Given the description of an element on the screen output the (x, y) to click on. 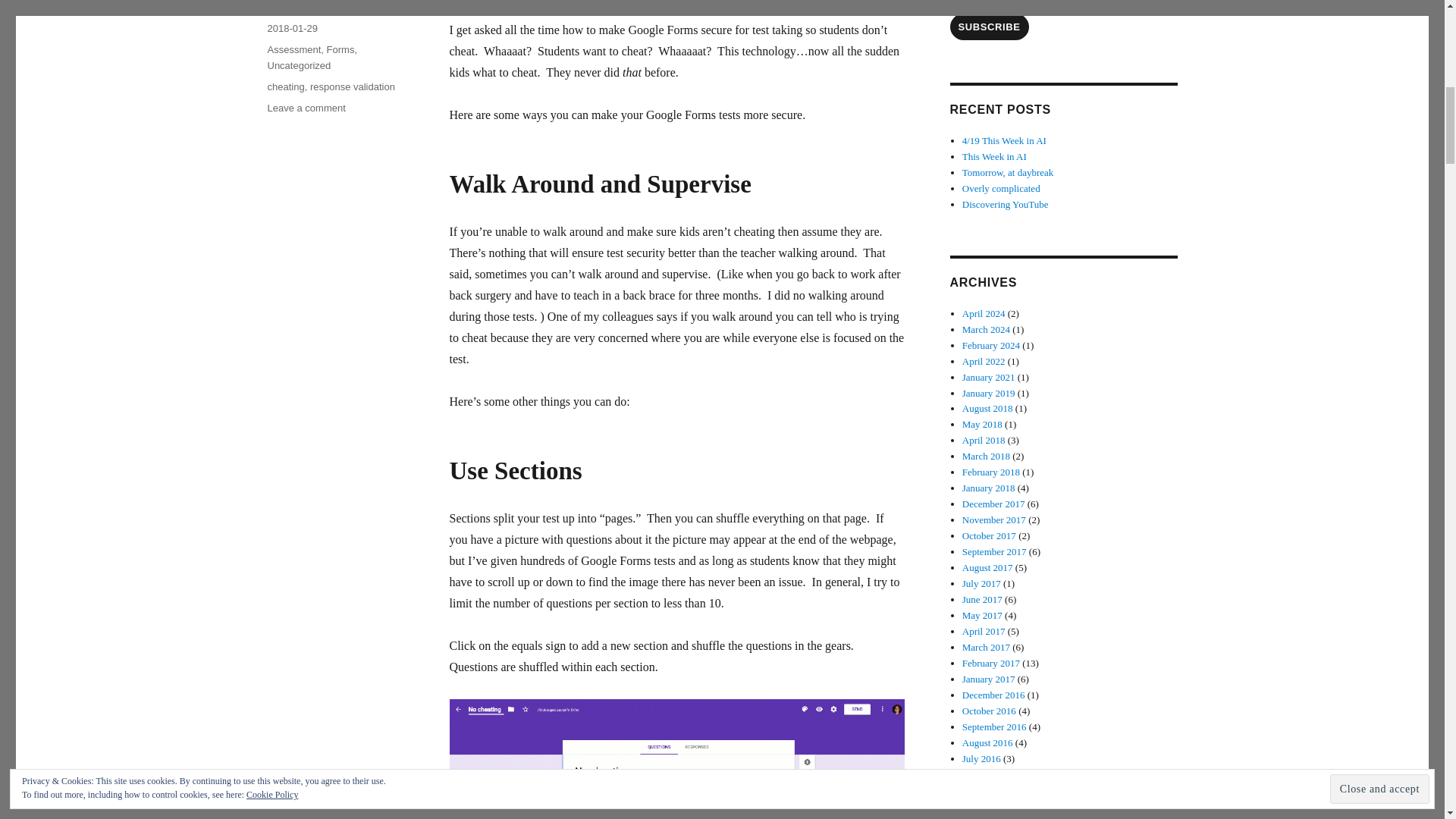
2018-01-29 (291, 28)
Assessment (305, 107)
cheating (293, 49)
Forms (285, 86)
Uncategorized (340, 49)
response validation (298, 65)
